Given the description of an element on the screen output the (x, y) to click on. 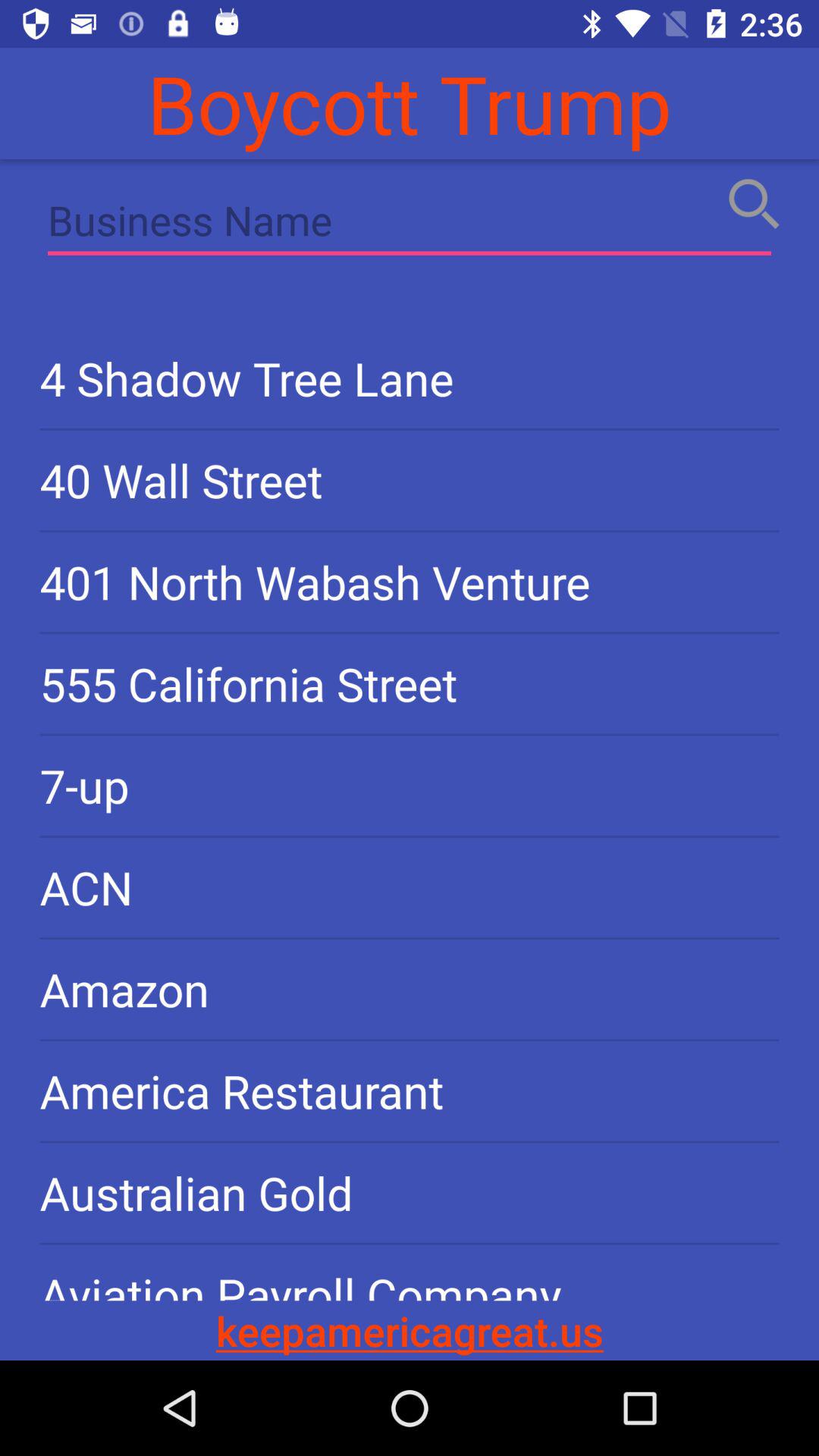
click icon above aviation payroll company (409, 1192)
